Given the description of an element on the screen output the (x, y) to click on. 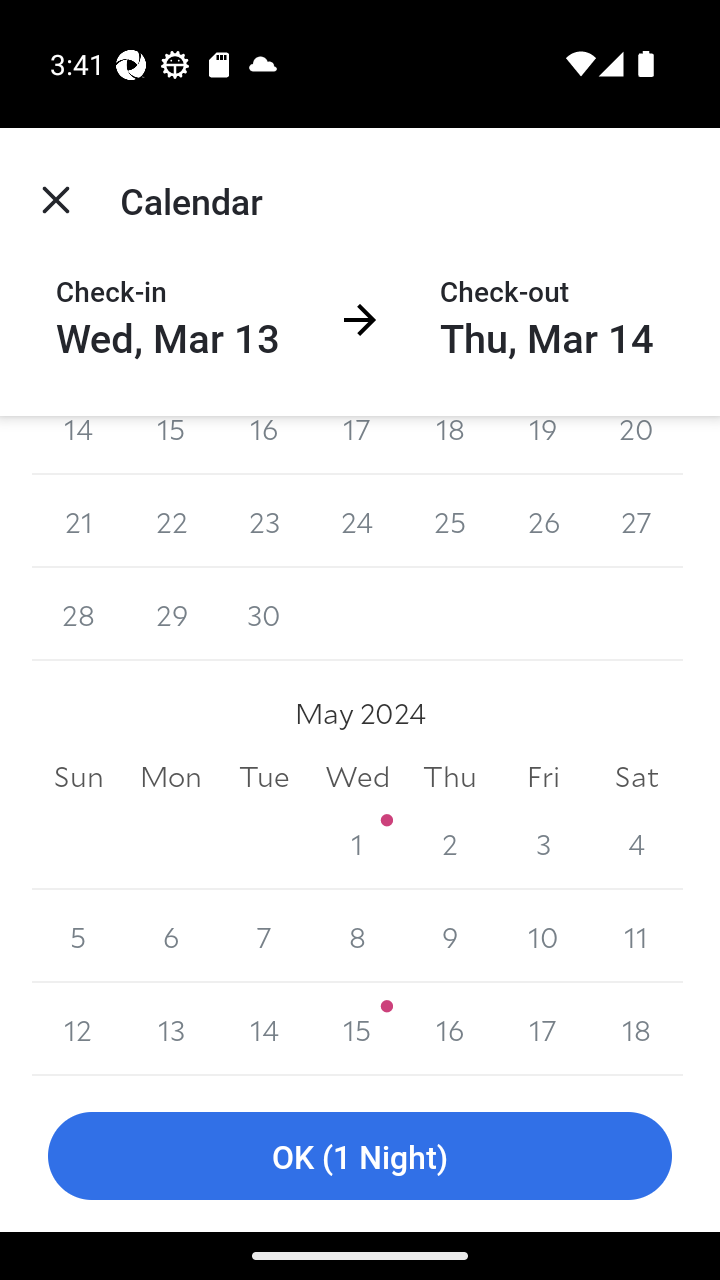
14 14 April 2024 (78, 445)
15 15 April 2024 (171, 445)
16 16 April 2024 (264, 445)
17 17 April 2024 (357, 445)
18 18 April 2024 (449, 445)
19 19 April 2024 (542, 445)
20 20 April 2024 (636, 445)
21 21 April 2024 (78, 521)
22 22 April 2024 (171, 521)
23 23 April 2024 (264, 521)
24 24 April 2024 (357, 521)
25 25 April 2024 (449, 521)
26 26 April 2024 (542, 521)
27 27 April 2024 (636, 521)
28 28 April 2024 (78, 614)
29 29 April 2024 (171, 614)
30 30 April 2024 (264, 614)
Sun (78, 776)
Mon (171, 776)
Tue (264, 776)
Wed (357, 776)
Thu (449, 776)
Fri (542, 776)
Sat (636, 776)
1 1 May 2024 (357, 843)
2 2 May 2024 (449, 843)
3 3 May 2024 (542, 843)
4 4 May 2024 (636, 843)
5 5 May 2024 (78, 936)
6 6 May 2024 (171, 936)
7 7 May 2024 (264, 936)
8 8 May 2024 (357, 936)
9 9 May 2024 (449, 936)
10 10 May 2024 (542, 936)
11 11 May 2024 (636, 936)
12 12 May 2024 (78, 1029)
13 13 May 2024 (171, 1029)
14 14 May 2024 (264, 1029)
15 15 May 2024 (357, 1029)
16 16 May 2024 (449, 1029)
17 17 May 2024 (542, 1029)
18 18 May 2024 (636, 1029)
OK (1 Night) (359, 1156)
